Given the description of an element on the screen output the (x, y) to click on. 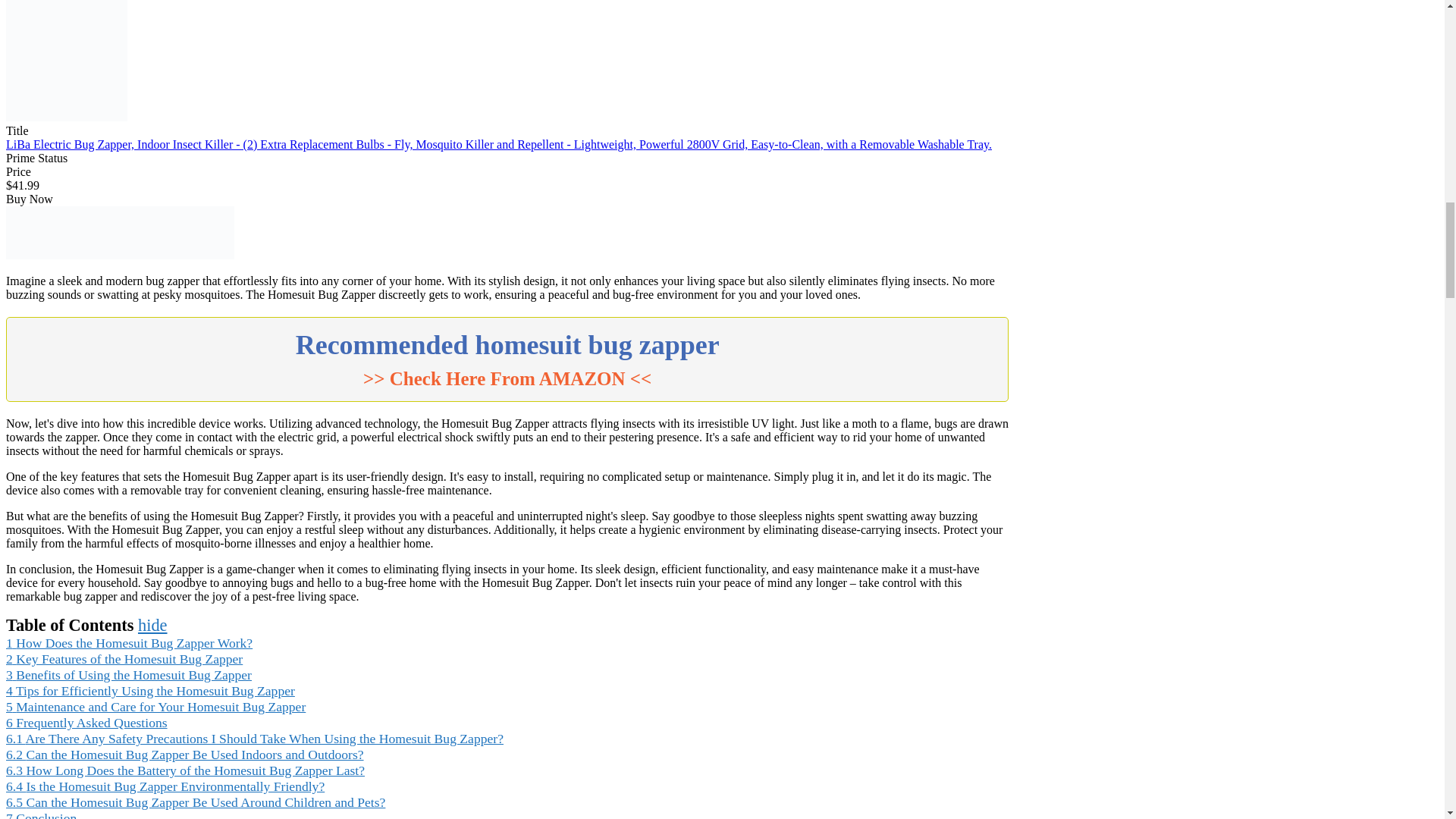
2 Key Features of the Homesuit Bug Zapper (124, 658)
hide (152, 624)
1 How Does the Homesuit Bug Zapper Work? (128, 642)
